Given the description of an element on the screen output the (x, y) to click on. 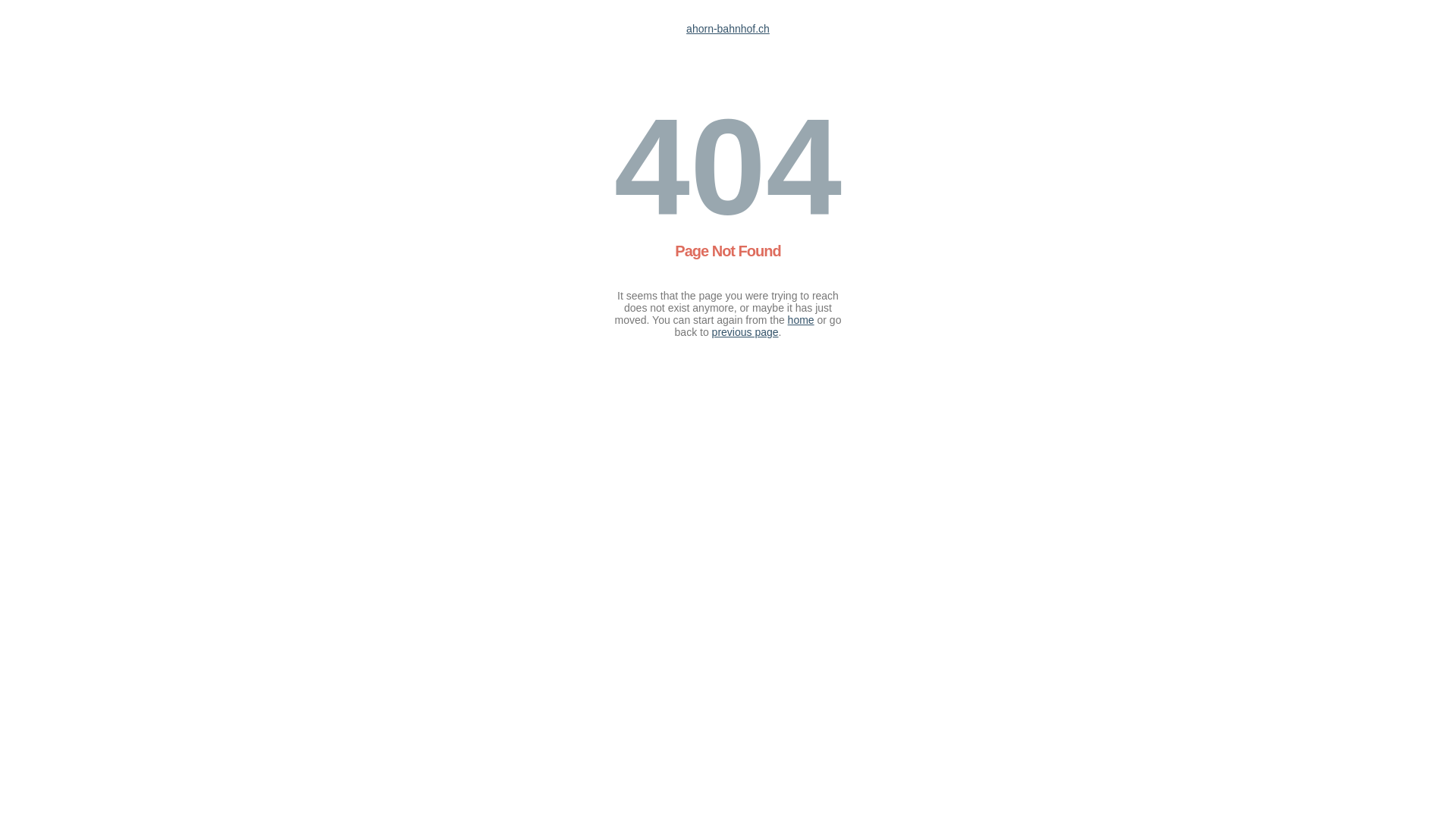
previous page Element type: text (745, 332)
ahorn-bahnhof.ch Element type: text (727, 28)
home Element type: text (800, 319)
